Given the description of an element on the screen output the (x, y) to click on. 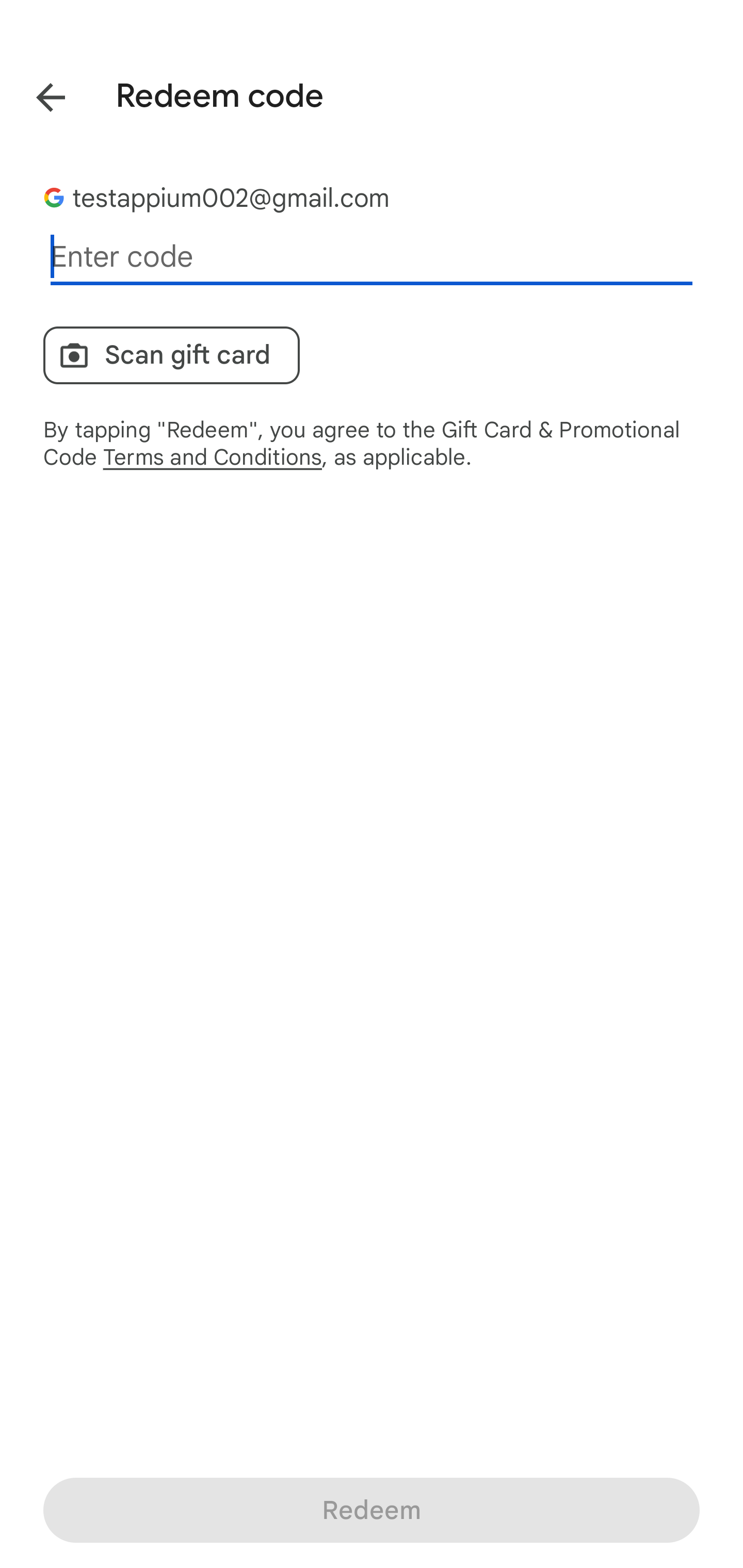
Back (36, 94)
Enter code (371, 256)
Scan gift card (171, 355)
